Given the description of an element on the screen output the (x, y) to click on. 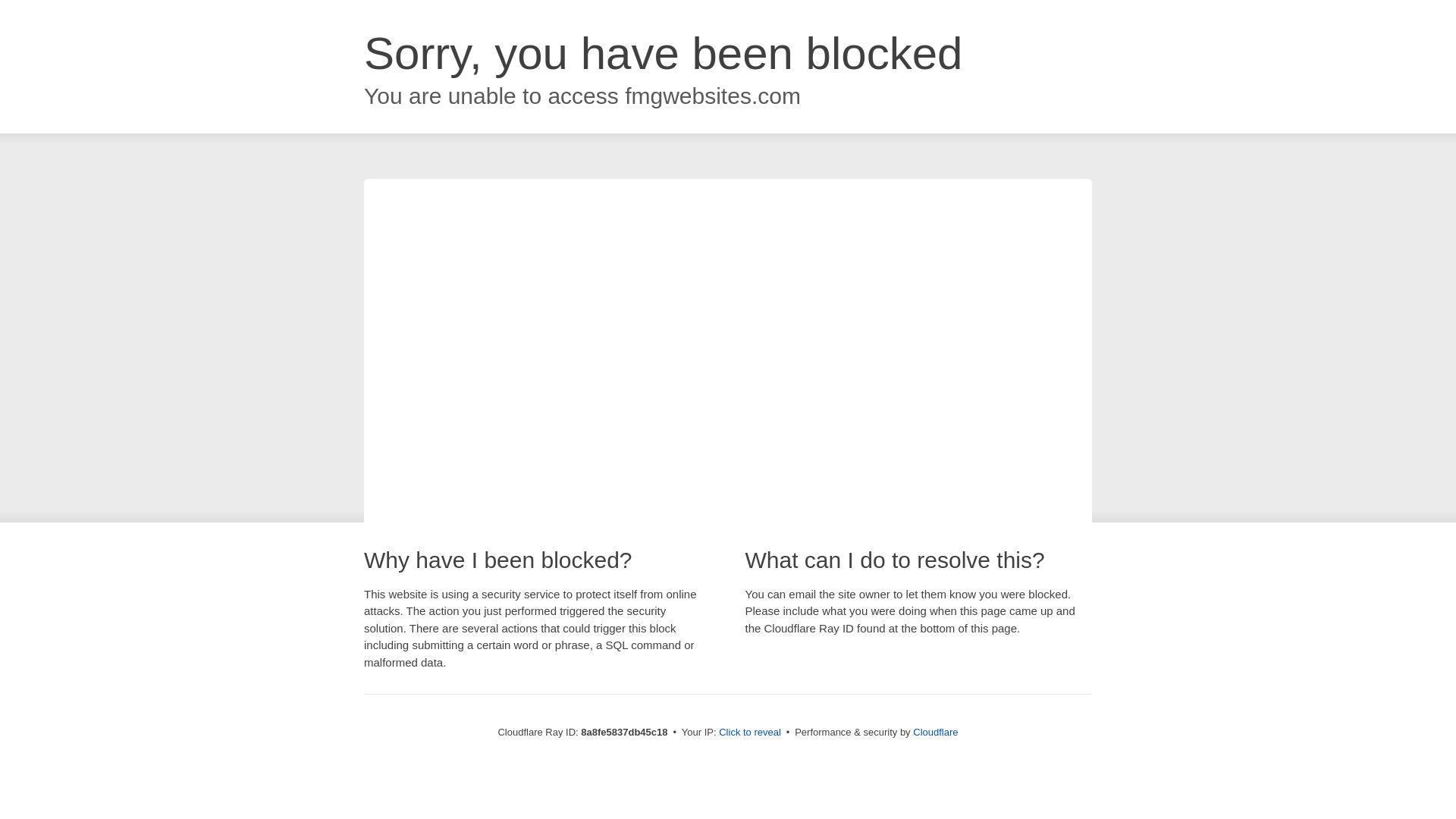
Click to reveal (749, 732)
Cloudflare (935, 731)
